Given the description of an element on the screen output the (x, y) to click on. 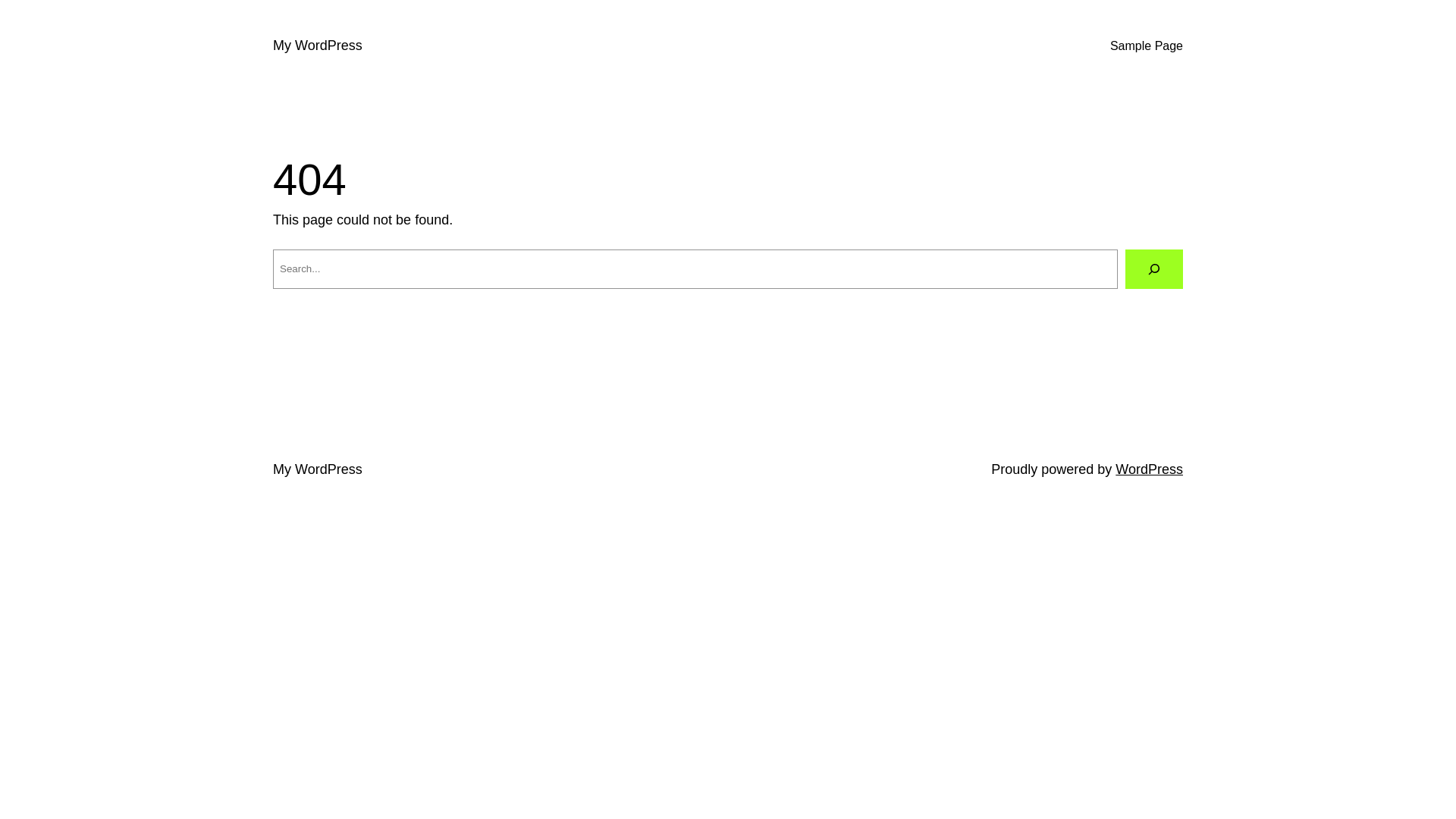
My WordPress Element type: text (317, 45)
Sample Page Element type: text (1146, 46)
WordPress Element type: text (1149, 468)
My WordPress Element type: text (317, 468)
